Given the description of an element on the screen output the (x, y) to click on. 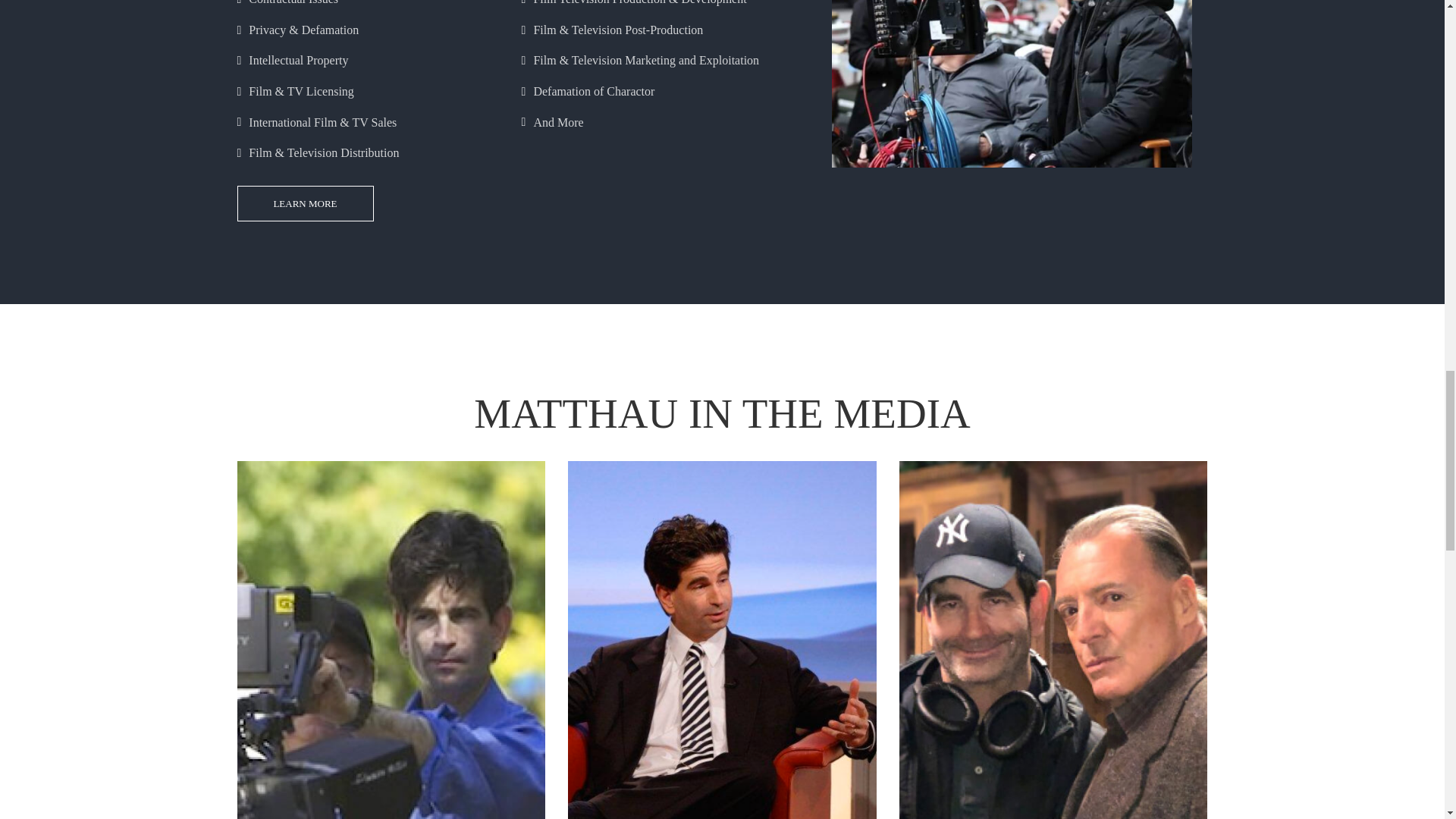
About Us (303, 203)
LEARN MORE (303, 203)
